Given the description of an element on the screen output the (x, y) to click on. 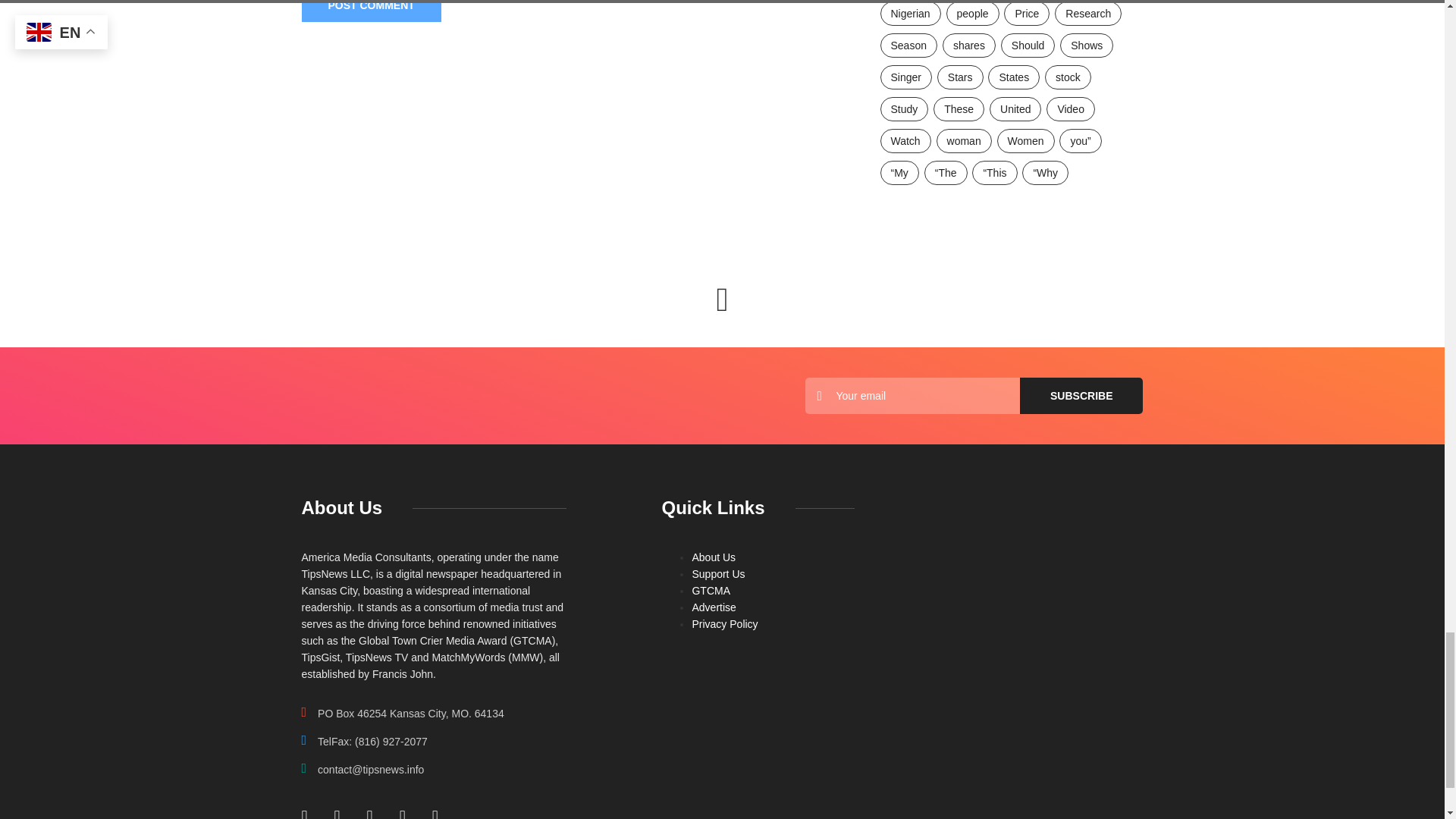
Post Comment (371, 11)
Subscribe (1081, 395)
